Given the description of an element on the screen output the (x, y) to click on. 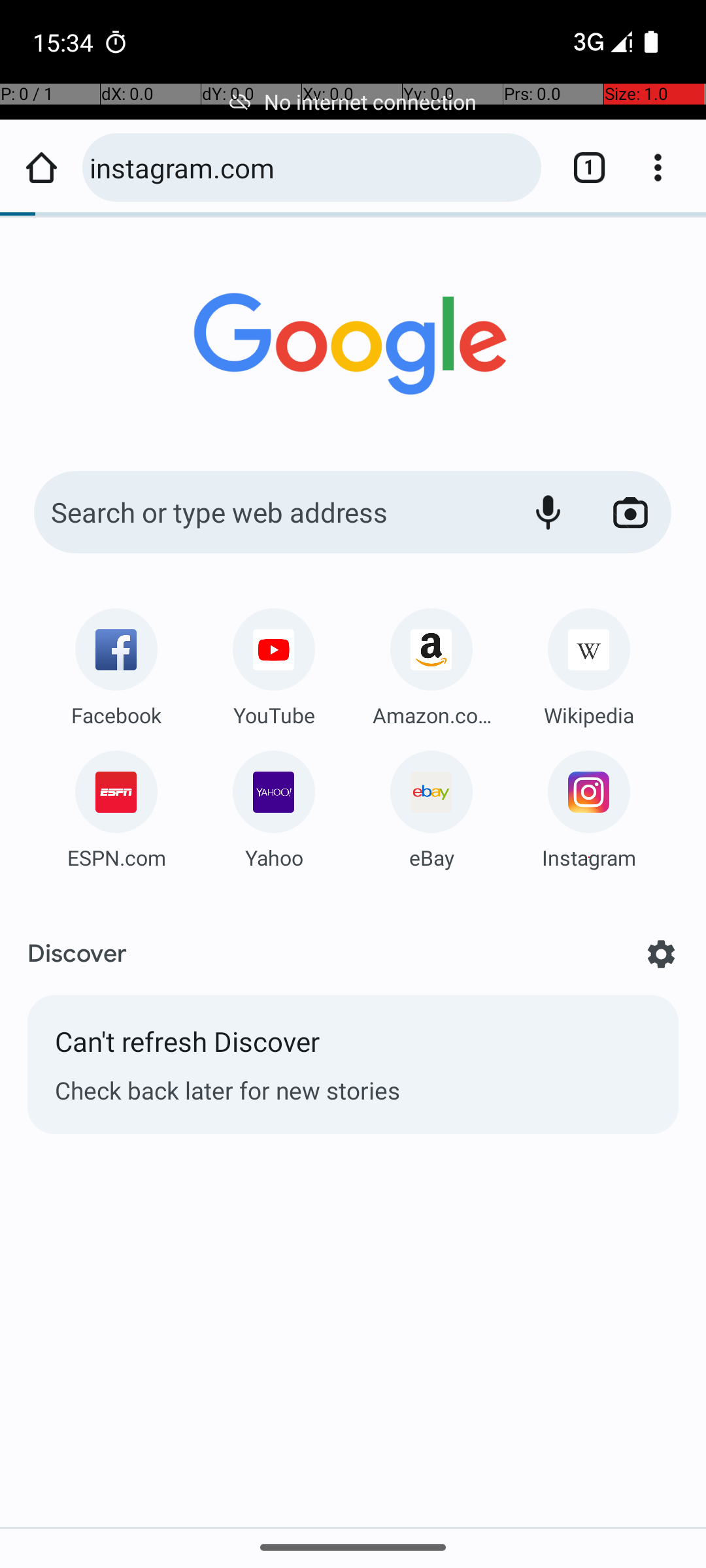
instagram.com Element type: android.widget.EditText (308, 167)
Can't refresh Discover Element type: android.widget.TextView (352, 1047)
Check back later for new stories Element type: android.widget.TextView (352, 1089)
